Given the description of an element on the screen output the (x, y) to click on. 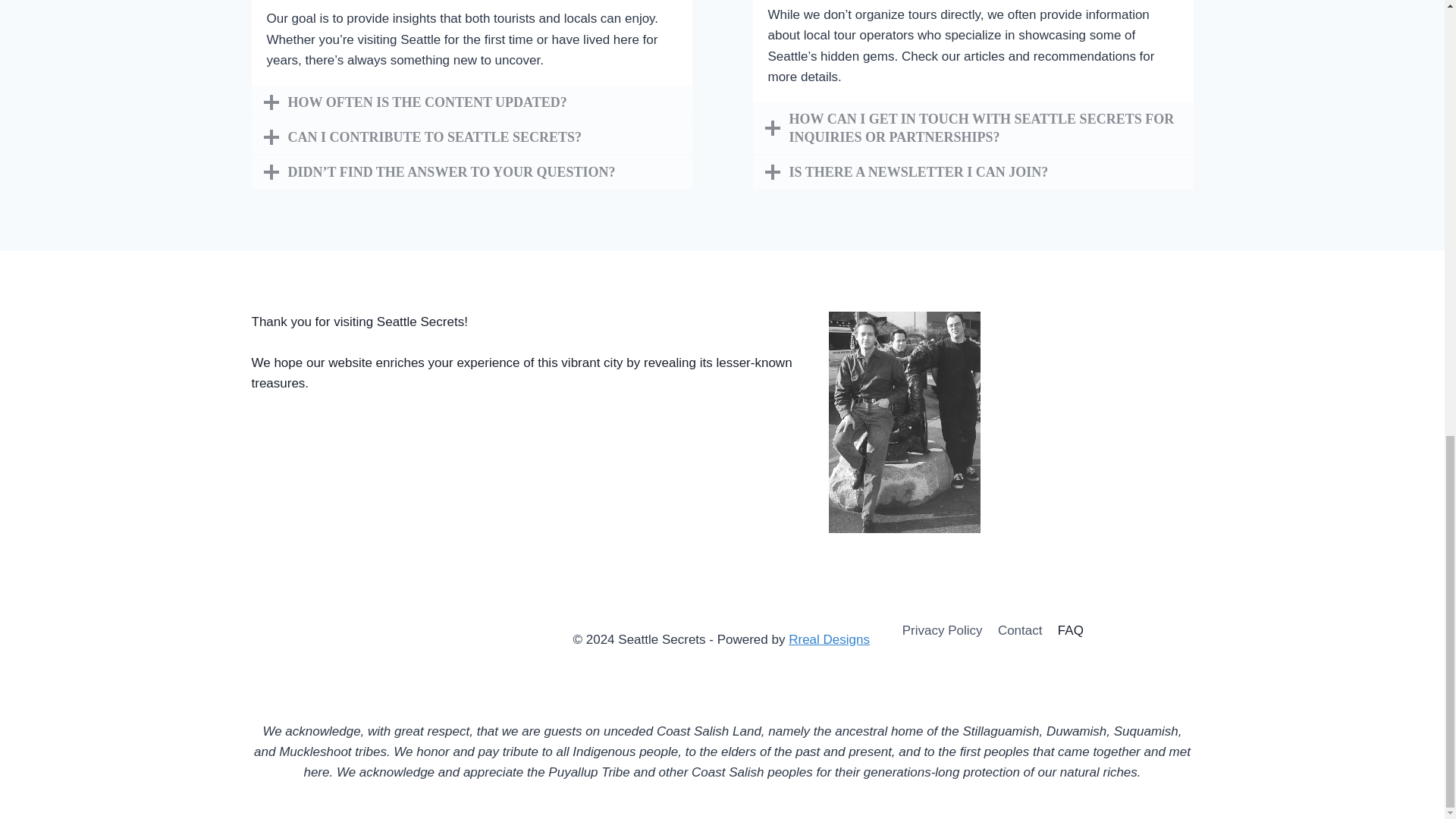
FAQ (1069, 630)
Contact (1019, 630)
Privacy Policy (942, 630)
HOW OFTEN IS THE CONTENT UPDATED? (472, 102)
CAN I CONTRIBUTE TO SEATTLE SECRETS? (472, 137)
IS THERE A NEWSLETTER I CAN JOIN? (972, 172)
Rreal Designs (829, 639)
